Given the description of an element on the screen output the (x, y) to click on. 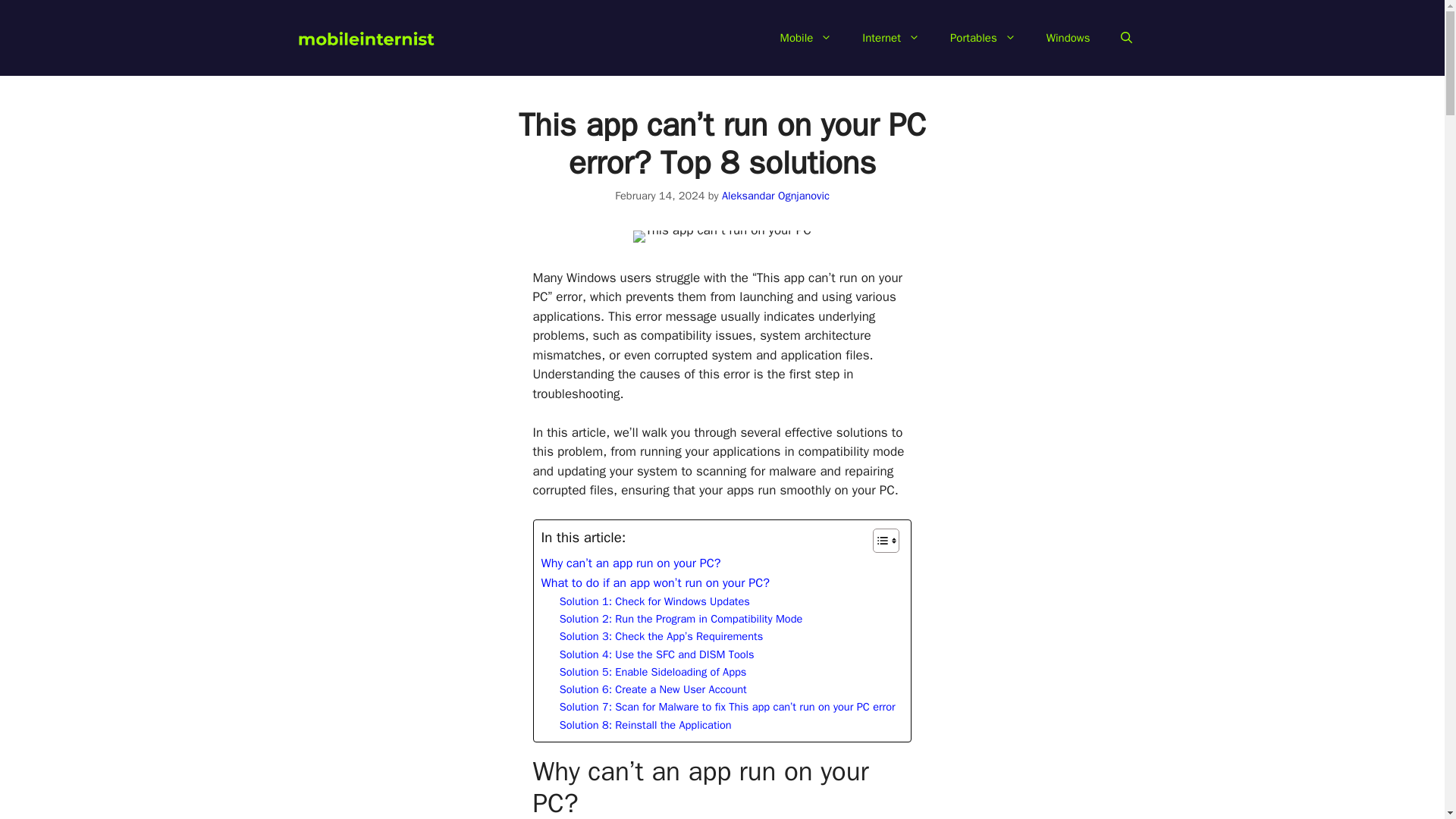
Solution 5: Enable Sideloading of Apps (652, 671)
View all posts by Aleksandar Ognjanovic (775, 195)
Solution 2: Run the Program in Compatibility Mode (681, 619)
Solution 6: Create a New User Account (652, 689)
Solution 1: Check for Windows Updates (654, 601)
Portables (982, 37)
Windows (1067, 37)
Solution 5: Enable Sideloading of Apps (652, 671)
Solution 2: Run the Program in Compatibility Mode (681, 619)
Solution 4: Use the SFC and DISM Tools (656, 654)
